Given the description of an element on the screen output the (x, y) to click on. 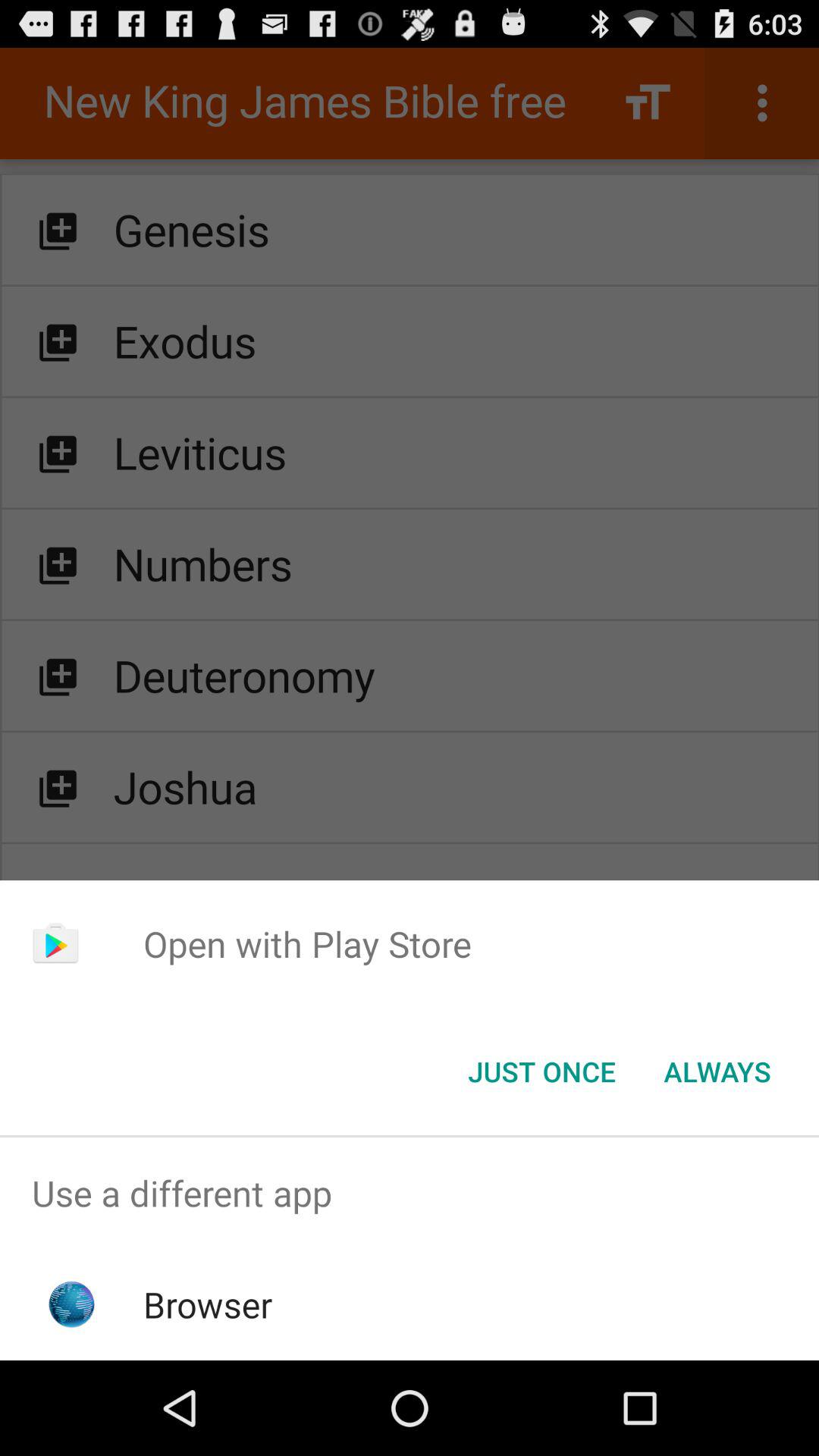
choose icon below the use a different item (207, 1304)
